Given the description of an element on the screen output the (x, y) to click on. 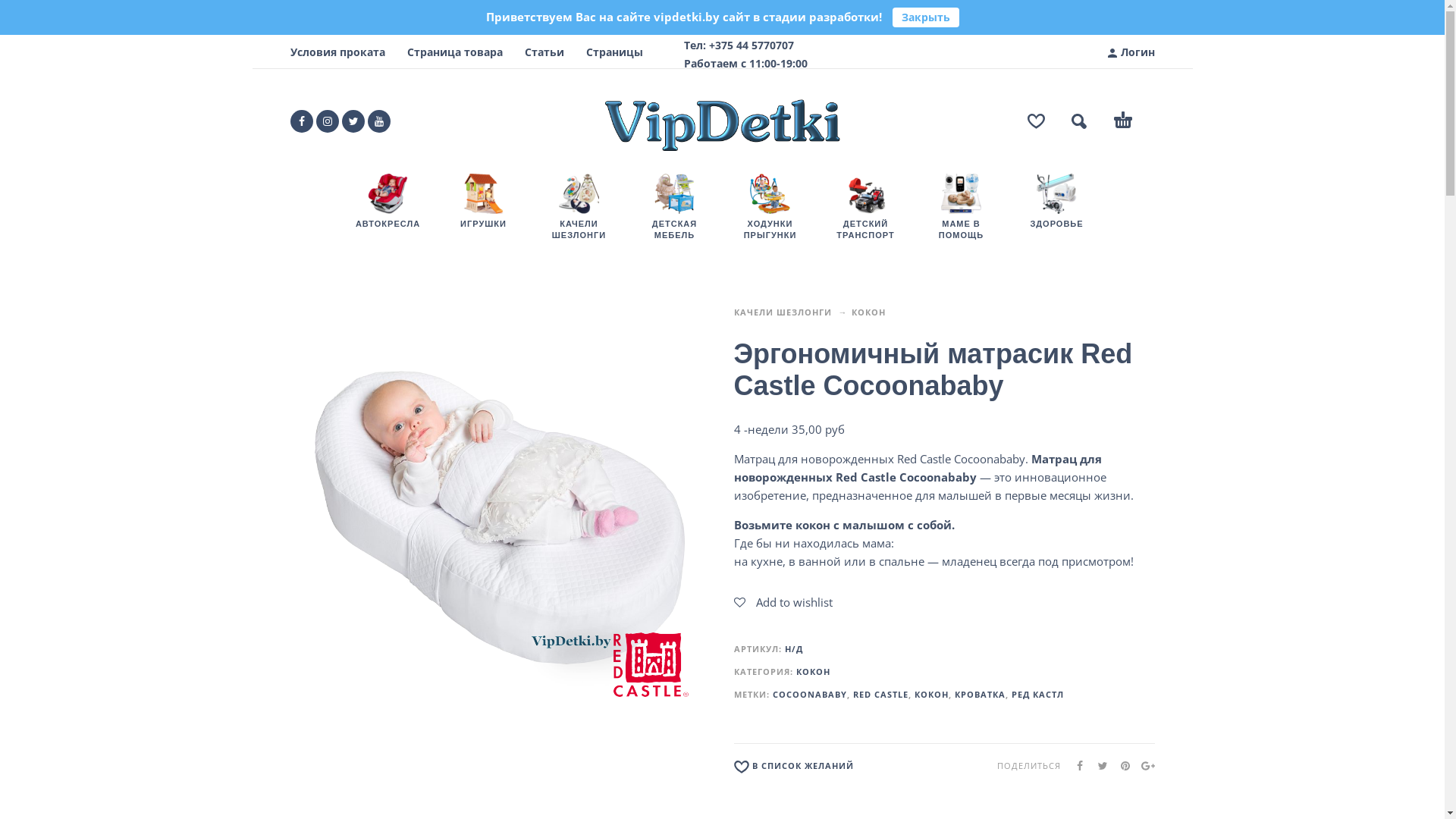
Add to wishlist Element type: text (783, 601)
COCOONABABY Element type: text (808, 693)
RED CASTLE Element type: text (879, 693)
